Given the description of an element on the screen output the (x, y) to click on. 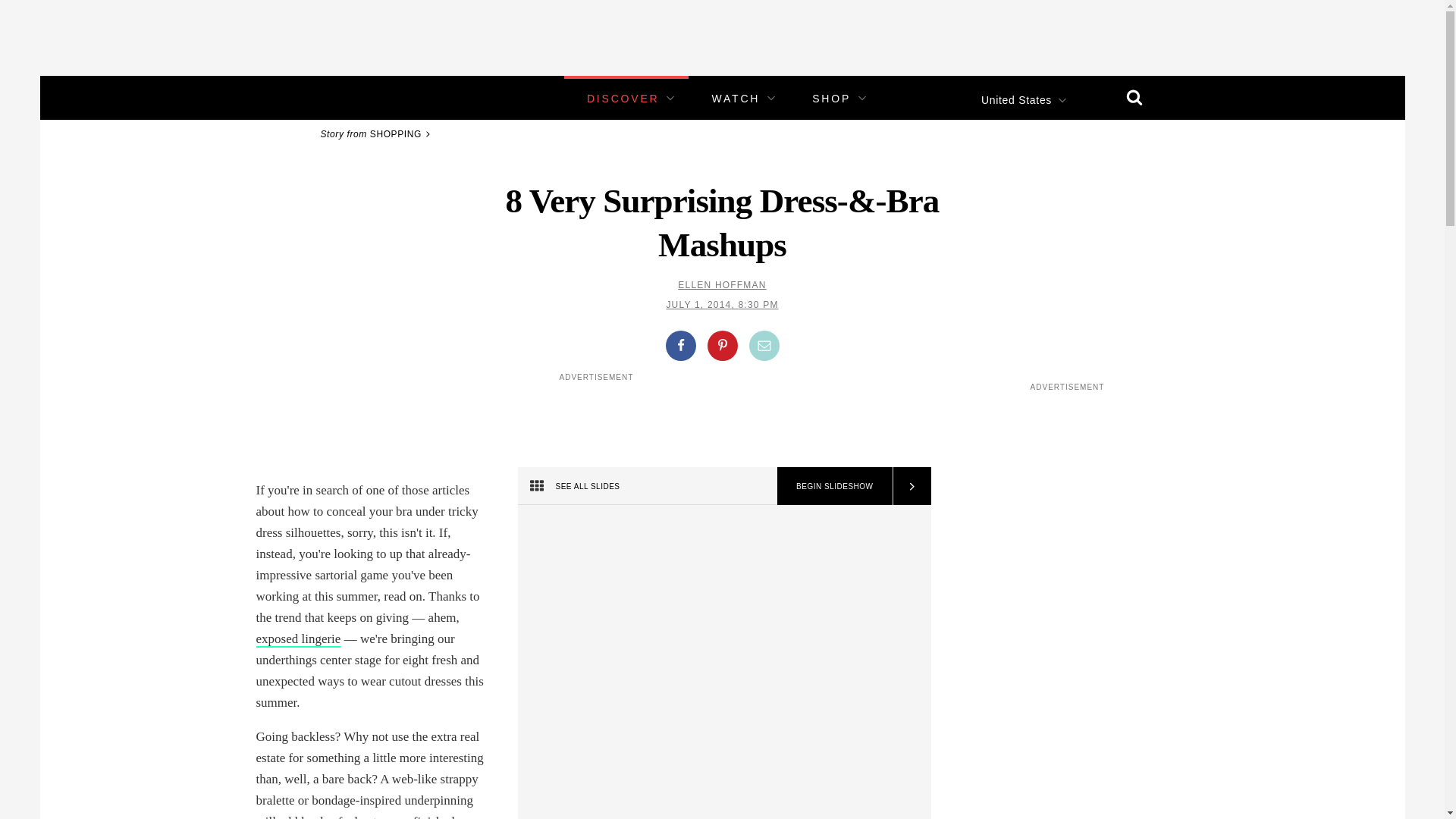
exposed lingerie (298, 639)
Share by Email (763, 345)
WATCH (735, 98)
BEGIN SLIDESHOW (834, 485)
SHOP (831, 98)
Begin Slideshow (834, 485)
JULY 1, 2014, 8:30 PM (721, 304)
Share on Pinterest (721, 345)
Next Slide (910, 485)
DISCOVER (622, 98)
